Given the description of an element on the screen output the (x, y) to click on. 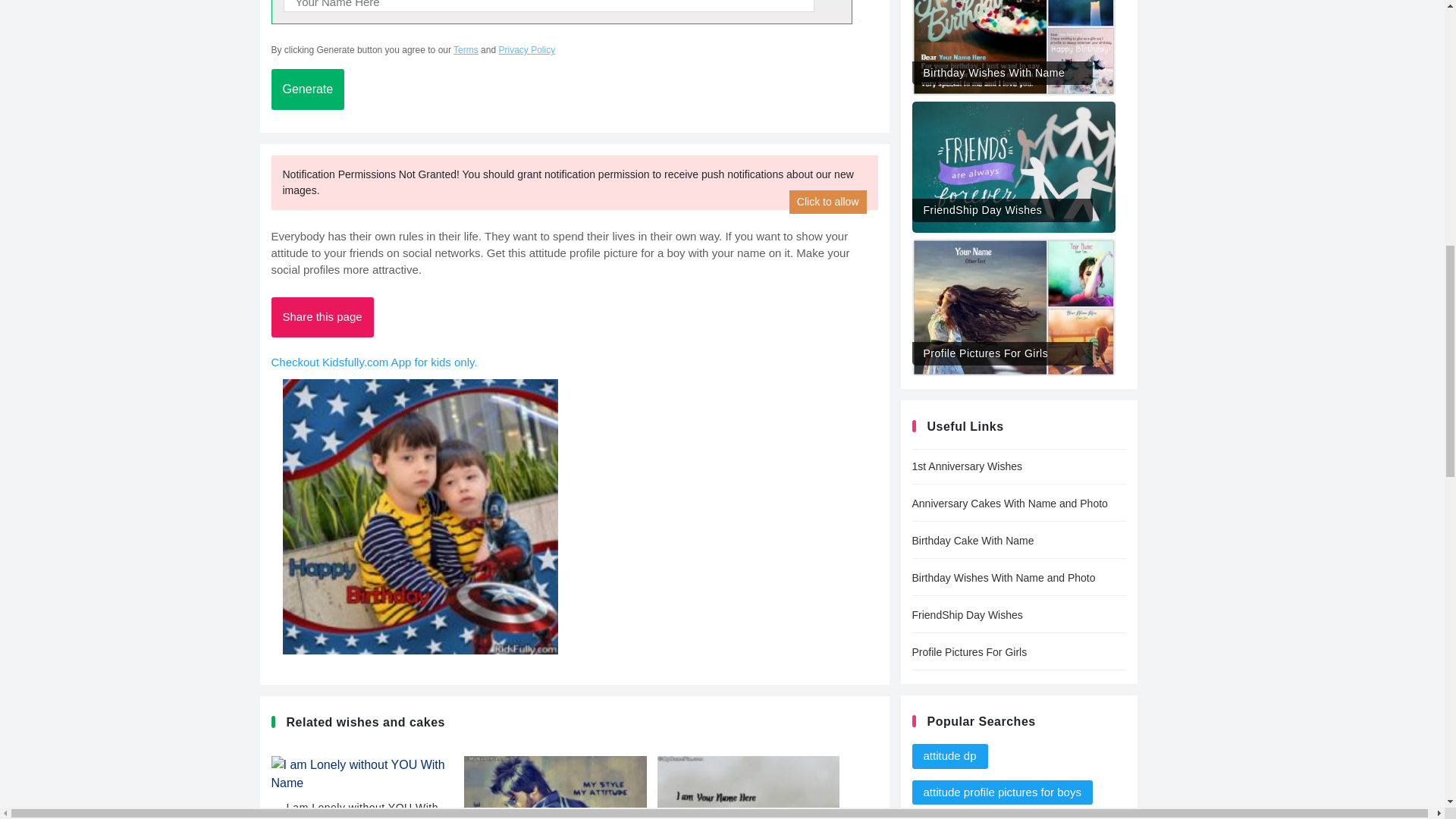
Share this page (322, 317)
Profile Pictures For Girls (1018, 652)
Birthday Wishes With Name and Photo (1018, 578)
Click to allow (827, 201)
1st Anniversary Wishes (1018, 466)
Anniversary Cakes With Name and Photo (1018, 503)
name pics (948, 817)
Birthday Wishes With Name and Photo (1013, 42)
FriendShip Day Wishes (1013, 161)
FriendShip Day Wishes (1018, 615)
attitude profile pictures for boys (1001, 792)
Birthday Cake With Name (1018, 540)
Profile Pictures For Girls (1013, 302)
I am Lonely without YOU With Name (362, 792)
Privacy Policy (525, 50)
